Given the description of an element on the screen output the (x, y) to click on. 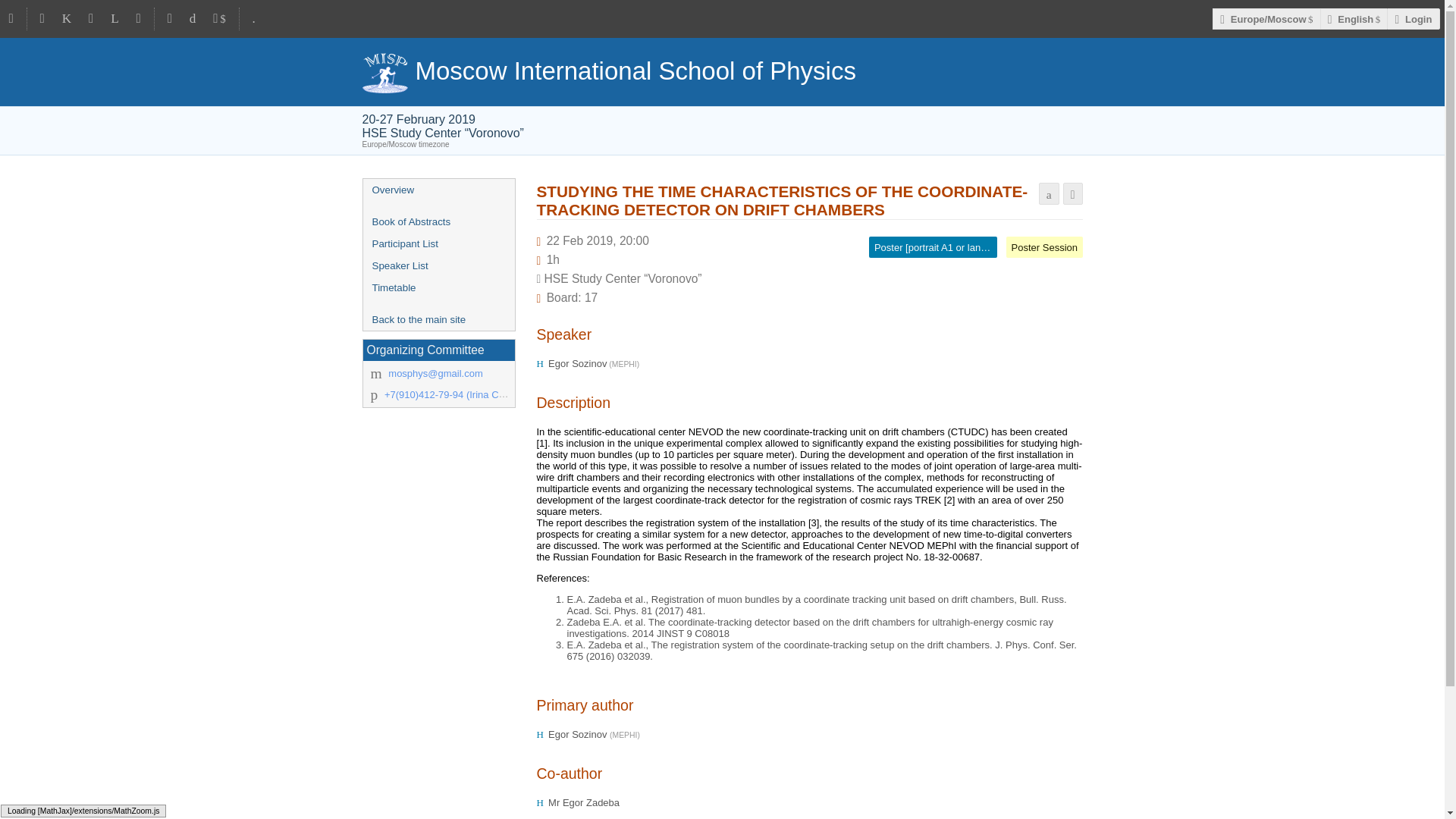
Login (1413, 19)
English (1353, 19)
Book of Abstracts (437, 221)
Back to the main site (437, 319)
Participant List (437, 243)
Duration (553, 259)
Speaker List (437, 265)
Poster Session (1044, 247)
Moscow International School of Physics (722, 70)
Timetable (437, 287)
